Given the description of an element on the screen output the (x, y) to click on. 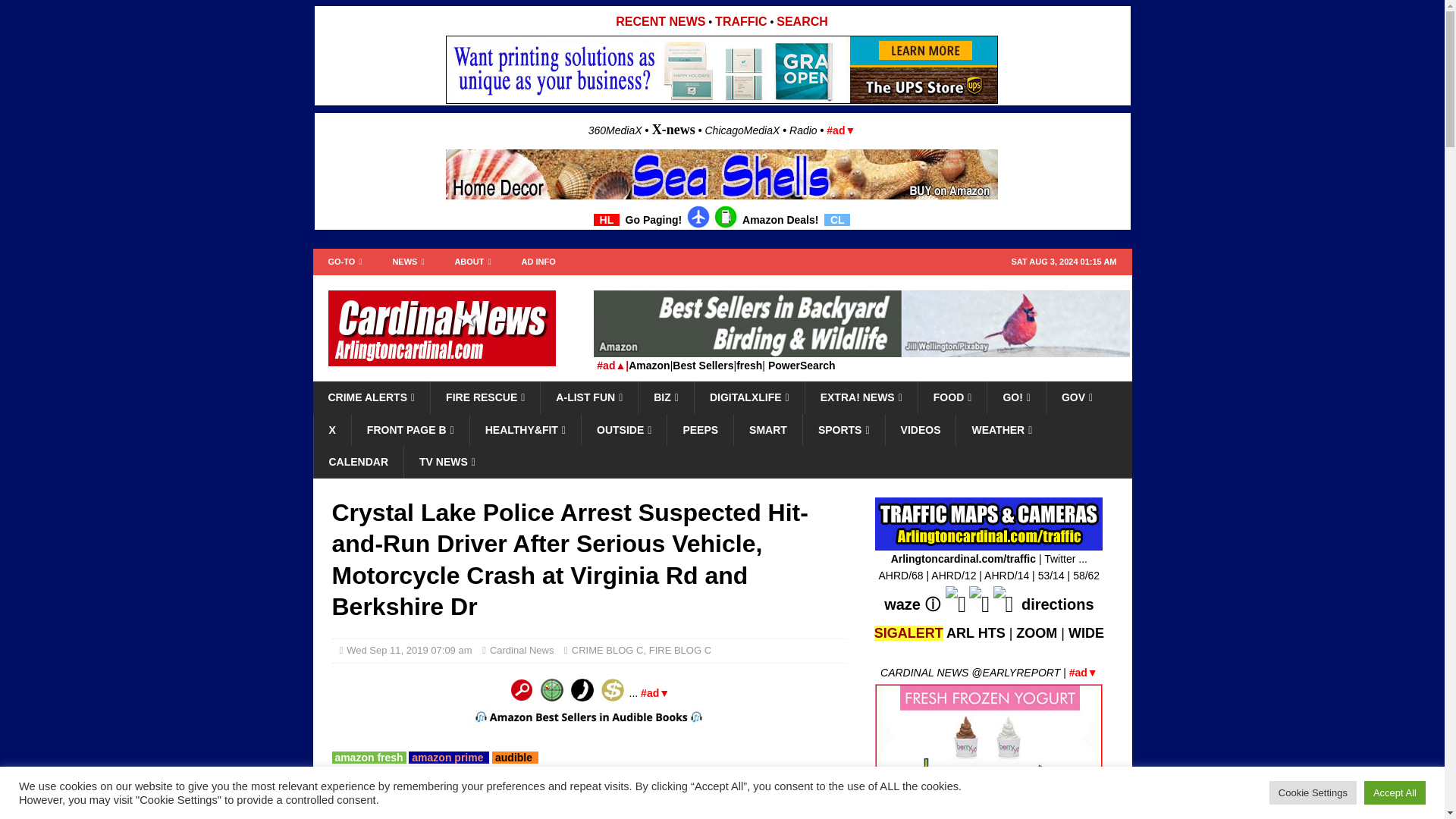
RECENT NEWS (659, 21)
Go Paging! (654, 219)
  HL   (607, 219)
SEARCH (802, 21)
360MediaX (616, 130)
Radio (802, 130)
X-news (673, 129)
  CL   (837, 219)
Amazon Deals! (780, 219)
TRAFFIC (740, 21)
